Given the description of an element on the screen output the (x, y) to click on. 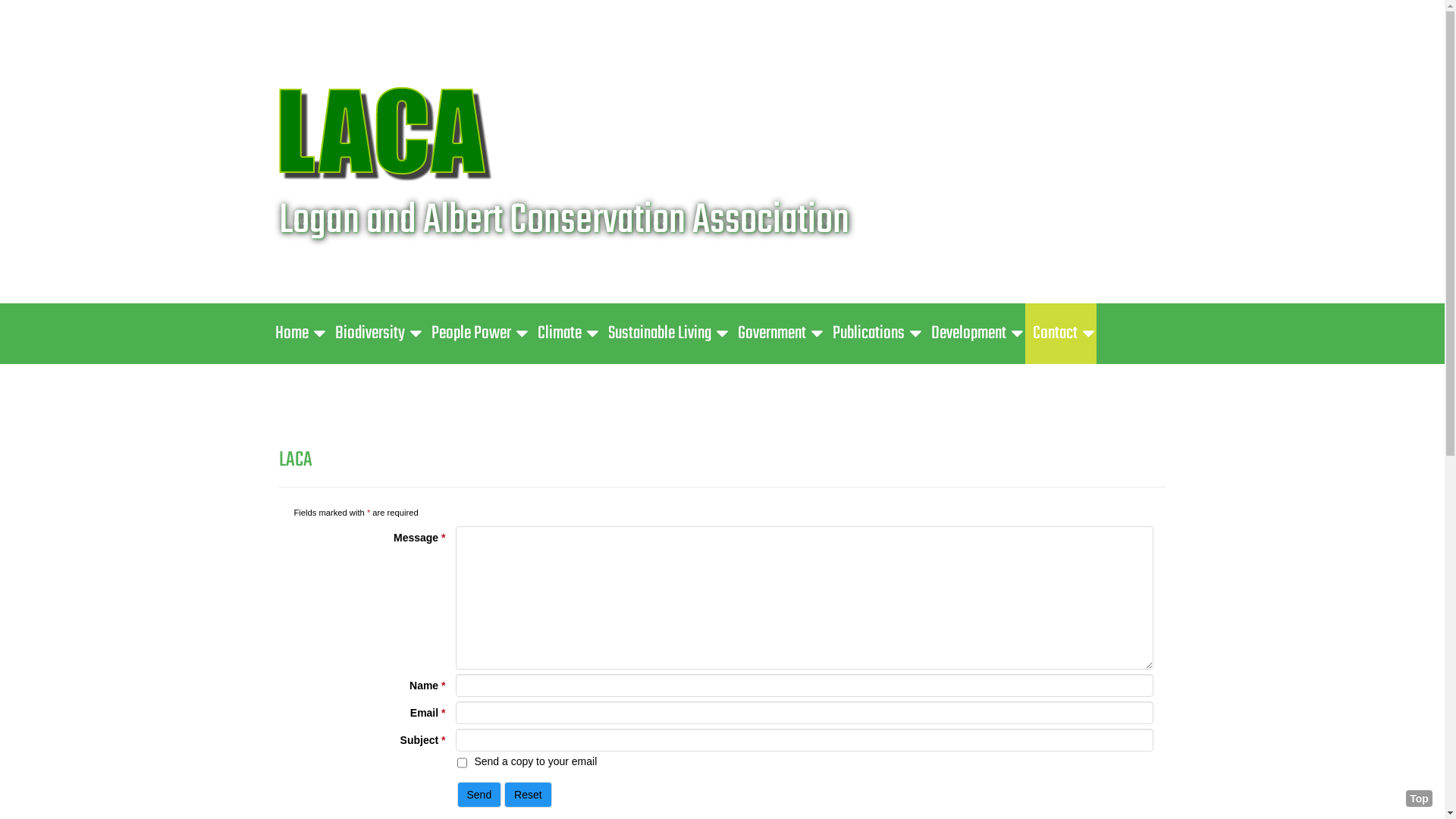
Publications Element type: text (874, 333)
People Power Element type: text (476, 333)
Climate Element type: text (564, 333)
Biodiversity Element type: text (375, 333)
Home Element type: text (296, 333)
Top Element type: text (1418, 798)
Government Element type: text (776, 333)
Development Element type: text (974, 333)
Send Element type: text (478, 794)
Contact Element type: text (1060, 333)
Sustainable Living Element type: text (665, 333)
Reset Element type: text (528, 794)
